Given the description of an element on the screen output the (x, y) to click on. 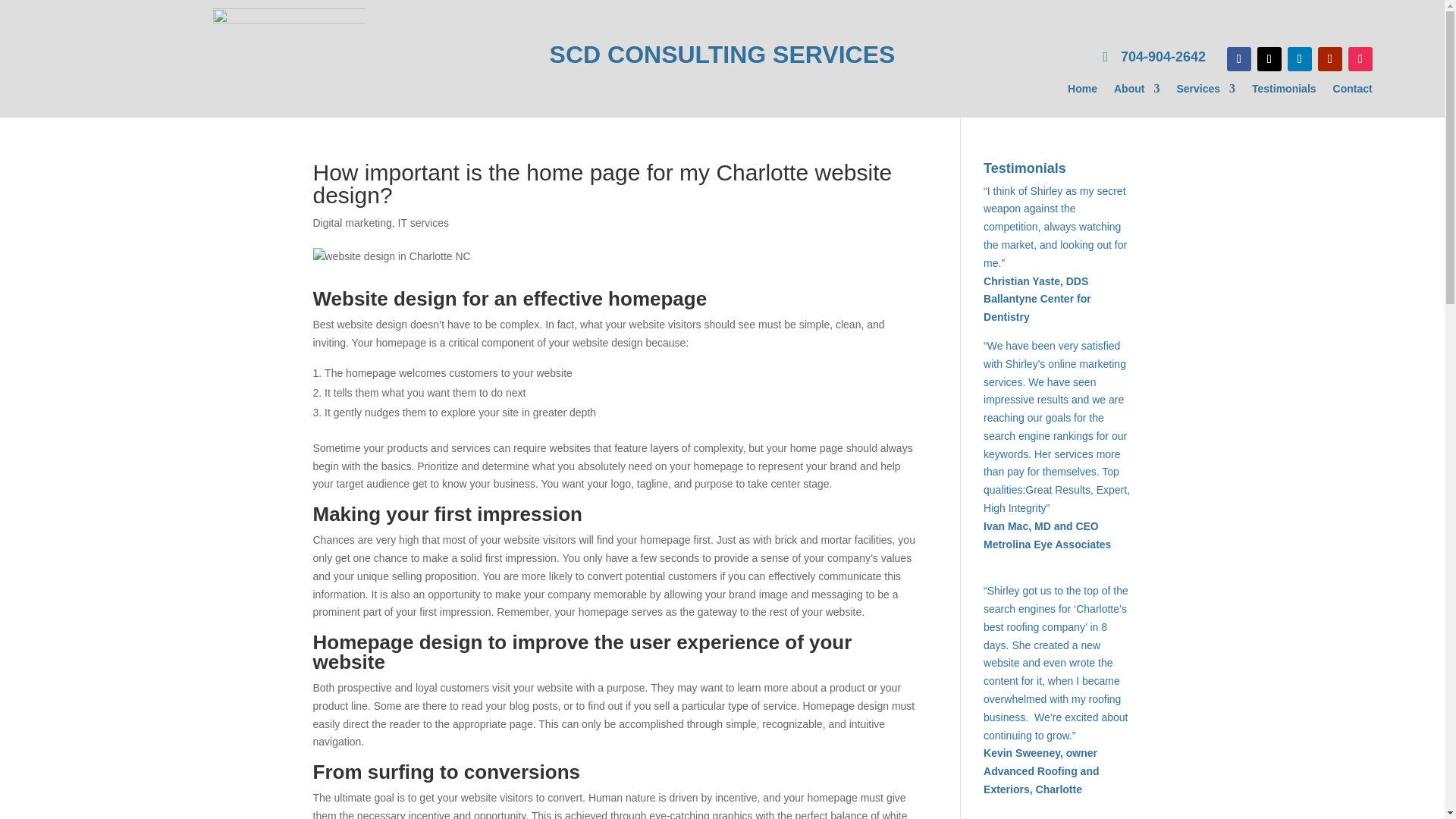
Follow on X (1269, 58)
704-904-2642 (1154, 56)
Home (1082, 91)
Services (1205, 91)
Contact (1353, 91)
Follow on Youtube (1329, 58)
Testimonials (1284, 91)
Follow on Facebook (1238, 58)
Follow on LinkedIn (1299, 58)
Follow on Instagram (1360, 58)
About (1135, 91)
